Given the description of an element on the screen output the (x, y) to click on. 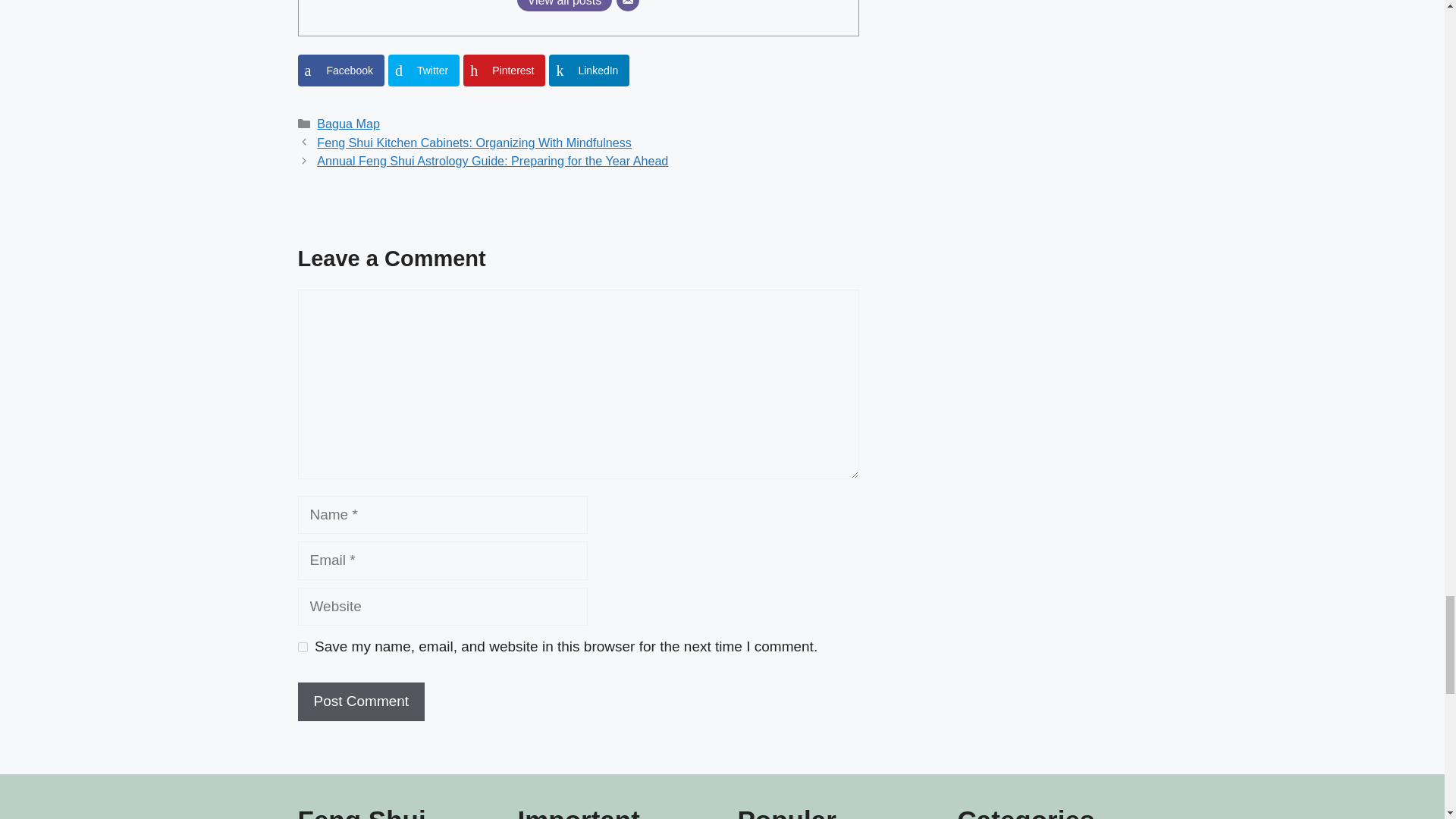
Share on Facebook (340, 70)
View all posts (564, 5)
Facebook (340, 70)
View all posts (564, 5)
Pinterest (503, 70)
Share on Twitter (424, 70)
Twitter (424, 70)
Share on Pinterest (503, 70)
yes (302, 646)
Post Comment (361, 701)
